Given the description of an element on the screen output the (x, y) to click on. 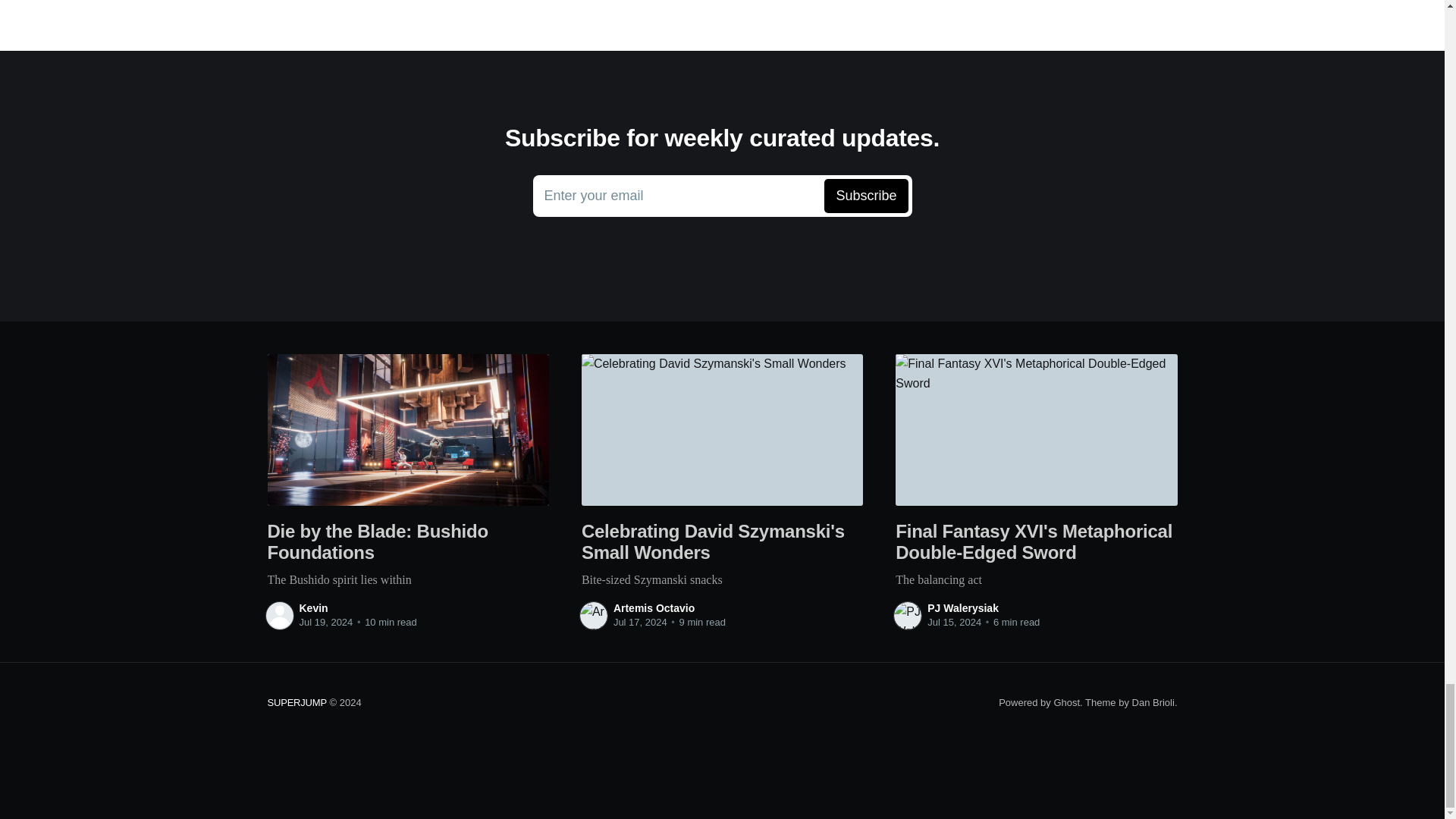
PJ Walerysiak (962, 607)
Kevin (312, 607)
Ghost (1066, 702)
Artemis Octavio (721, 196)
Dan Brioli (653, 607)
SUPERJUMP (1153, 702)
